Given the description of an element on the screen output the (x, y) to click on. 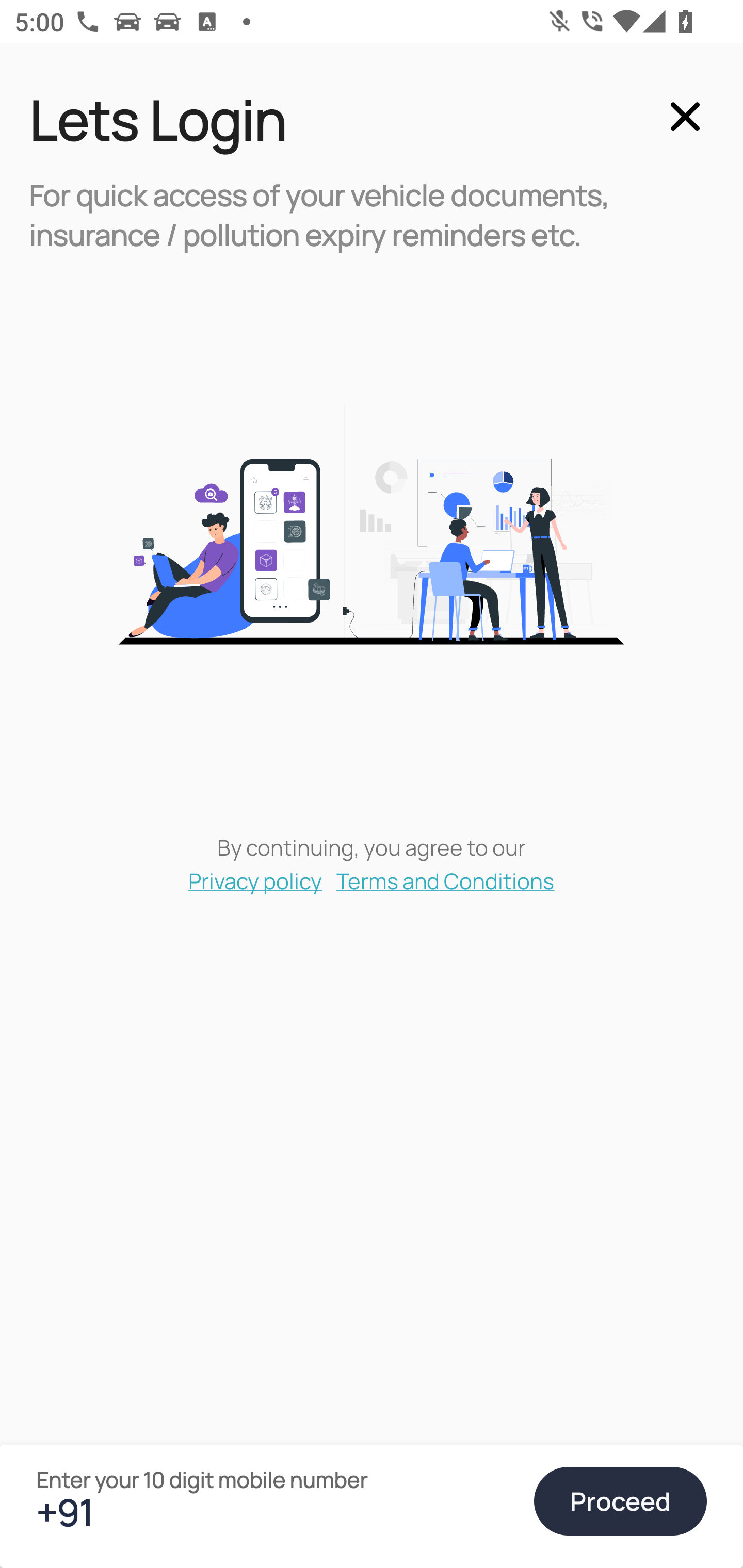
Privacy policy (254, 880)
Terms and Conditions (445, 880)
Proceed (620, 1501)
Enter your 10 digit mobile number (275, 1512)
